Given the description of an element on the screen output the (x, y) to click on. 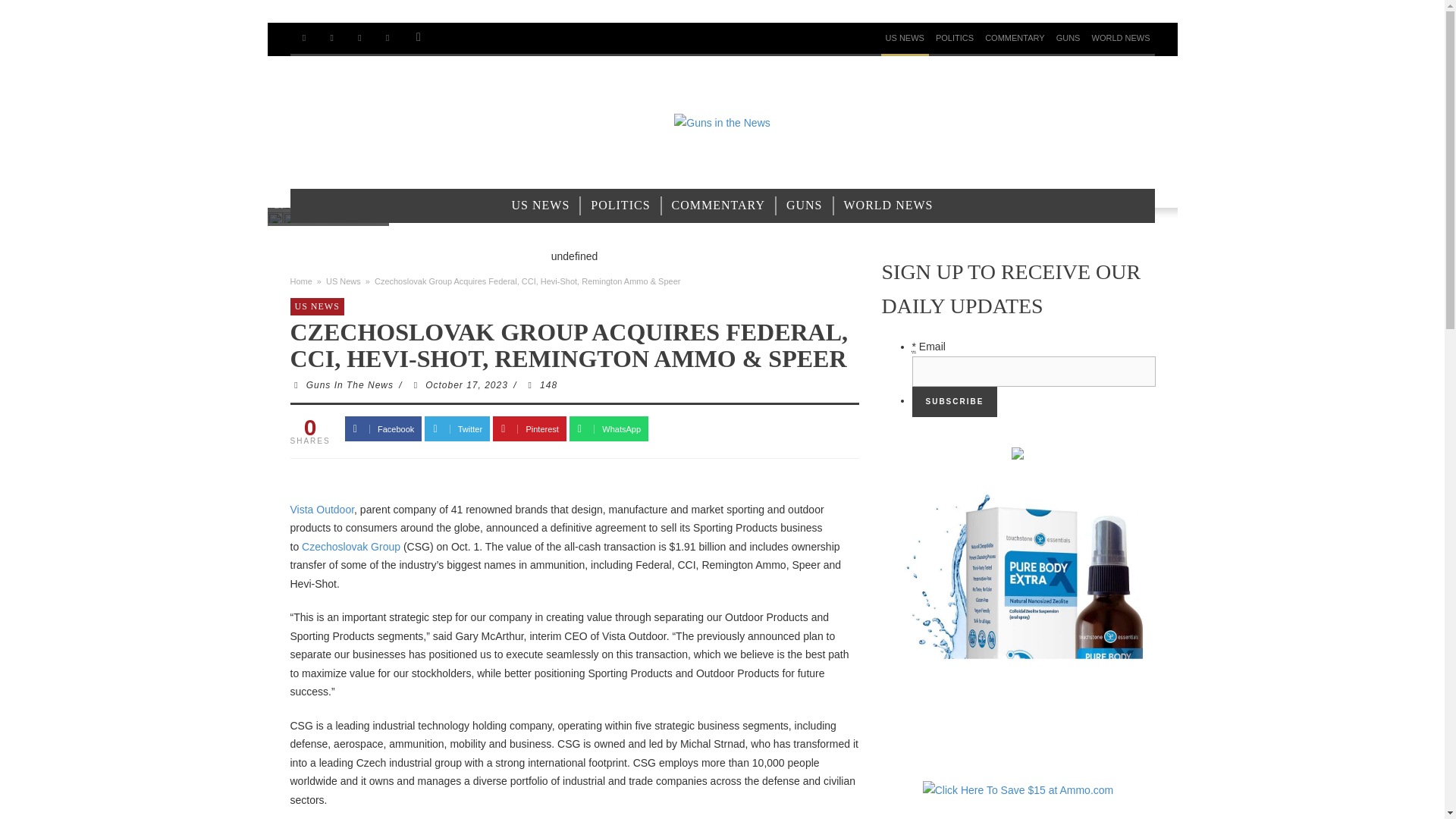
WORLD NEWS (1120, 38)
US NEWS (904, 38)
COMMENTARY (718, 205)
RSS (331, 38)
COMMENTARY (1013, 38)
Youtube (387, 38)
July 27, 2024 (315, 186)
Facebook (303, 38)
Twitter (360, 38)
GUNS (804, 205)
July 27, 2024 (285, 186)
US NEWS (540, 205)
WORLD NEWS (888, 205)
July 27, 2024 (300, 186)
